Given the description of an element on the screen output the (x, y) to click on. 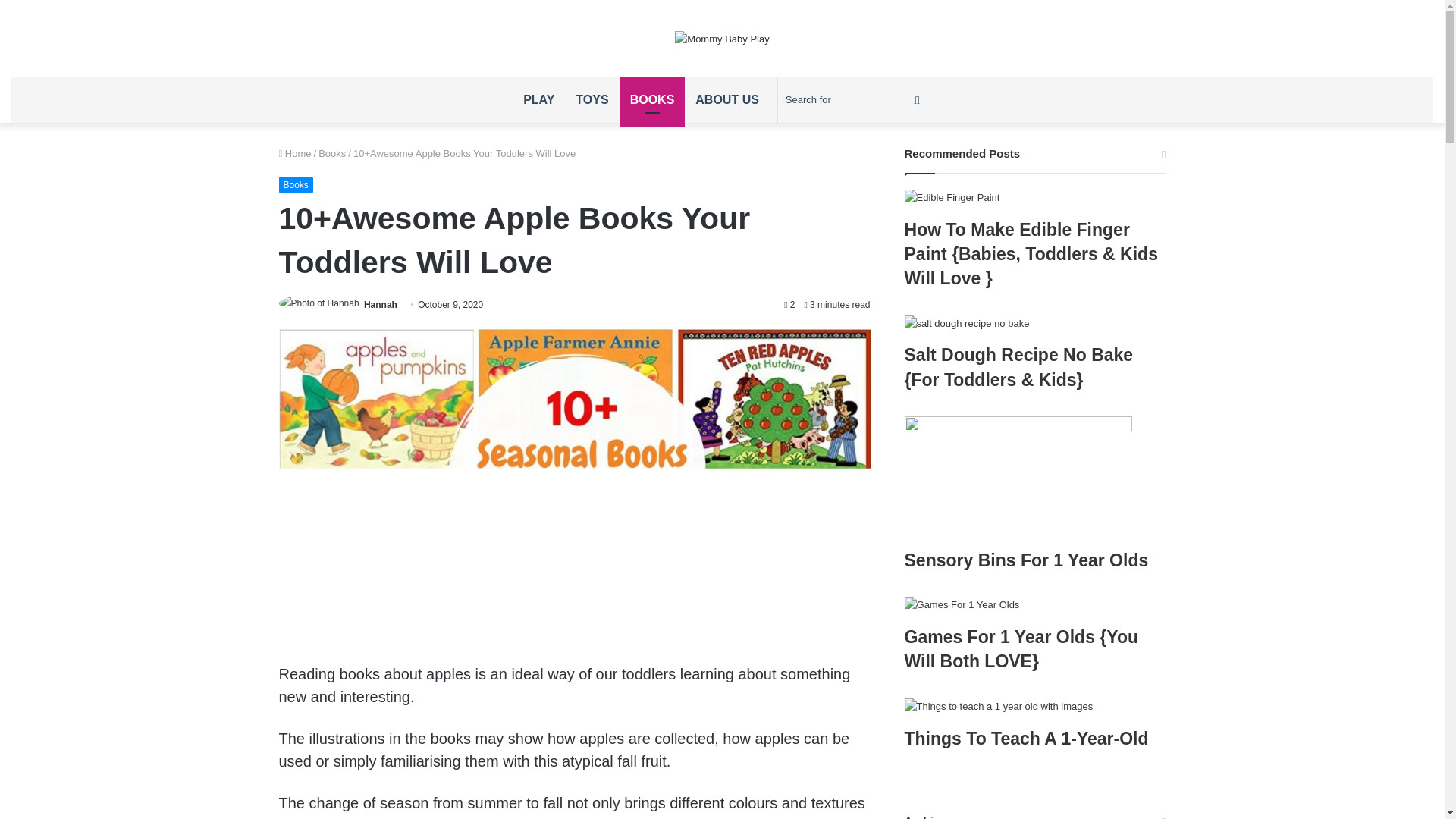
PLAY (538, 99)
Sensory Bins For 1 Year Olds (1026, 559)
Hannah (380, 304)
Books (332, 153)
Sensory Bins For 1 Year Olds (1035, 476)
Things To Teach A 1-Year-Old (1035, 706)
ABOUT US (727, 99)
Mommy Baby Play (721, 38)
BOOKS (652, 99)
Things To Teach A 1-Year-Old (1026, 738)
